Given the description of an element on the screen output the (x, y) to click on. 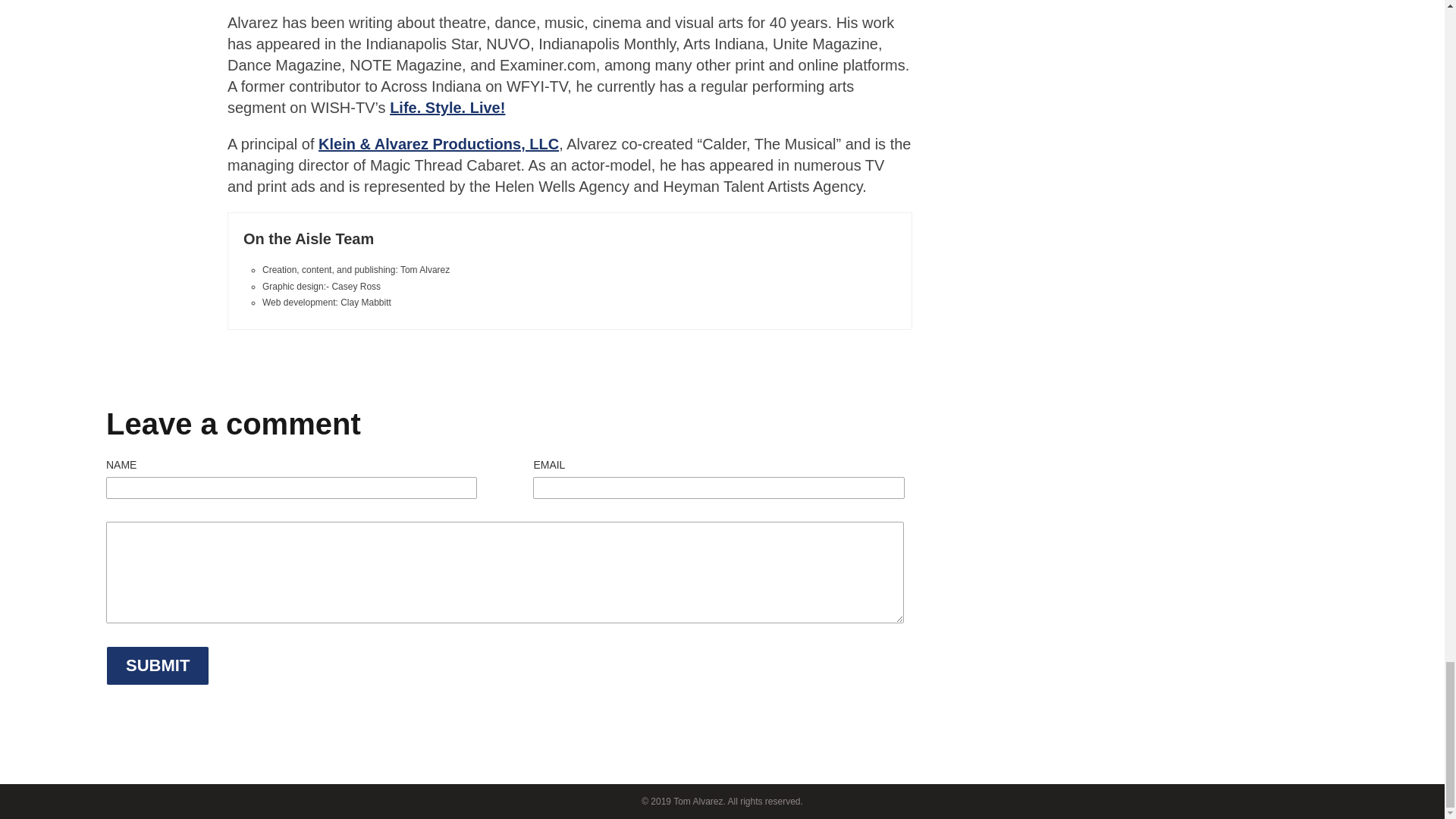
Submit (157, 665)
Life. Style. Live! (447, 107)
Submit (157, 665)
